Given the description of an element on the screen output the (x, y) to click on. 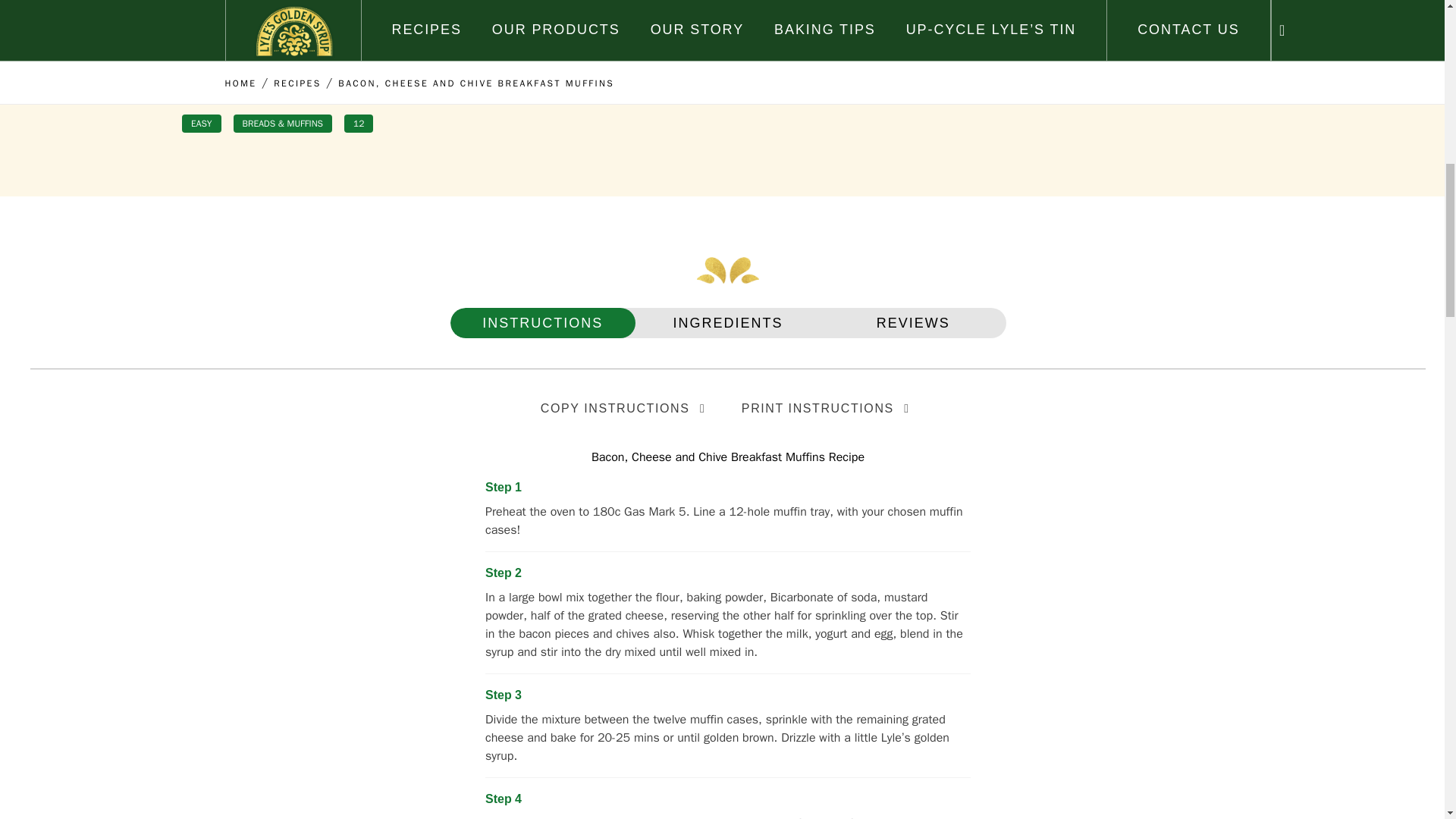
COPY INSTRUCTIONS  (625, 408)
EASY (201, 123)
12 (357, 123)
PRINT INSTRUCTIONS  (828, 408)
